Given the description of an element on the screen output the (x, y) to click on. 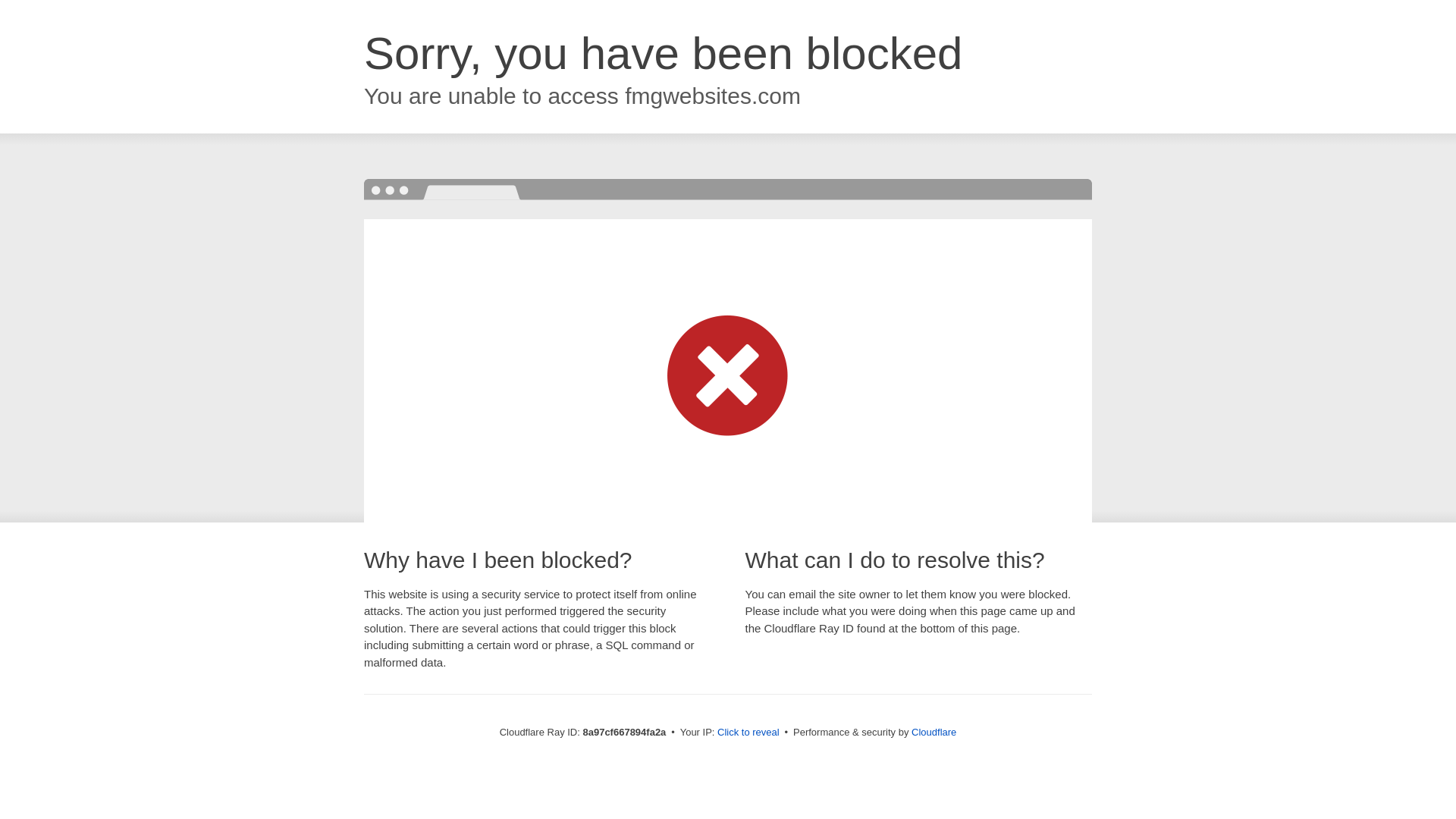
Cloudflare (933, 731)
Click to reveal (747, 732)
